Given the description of an element on the screen output the (x, y) to click on. 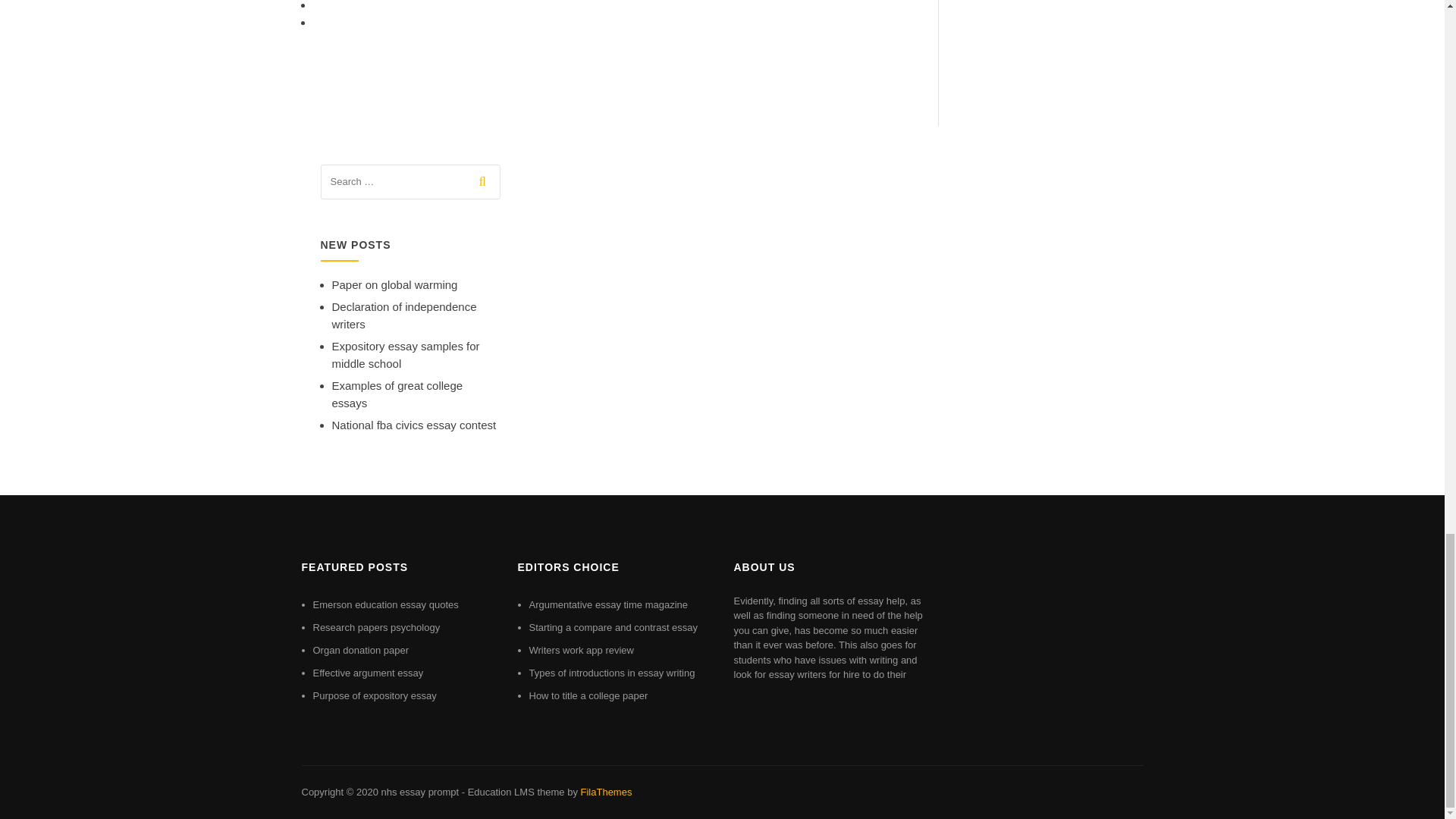
Emerson education essay quotes (385, 604)
nhs essay prompt (419, 791)
Purpose of expository essay (374, 695)
National fba civics essay contest (413, 424)
How to title a college paper (588, 695)
Declaration of independence writers (404, 315)
Organ donation paper (360, 650)
Types of introductions in essay writing (612, 672)
Research papers psychology (376, 627)
nhs essay prompt (419, 791)
Argumentative essay time magazine (608, 604)
Paper on global warming (394, 284)
Examples of great college essays (397, 394)
Expository essay samples for middle school (405, 354)
Writers work app review (581, 650)
